Given the description of an element on the screen output the (x, y) to click on. 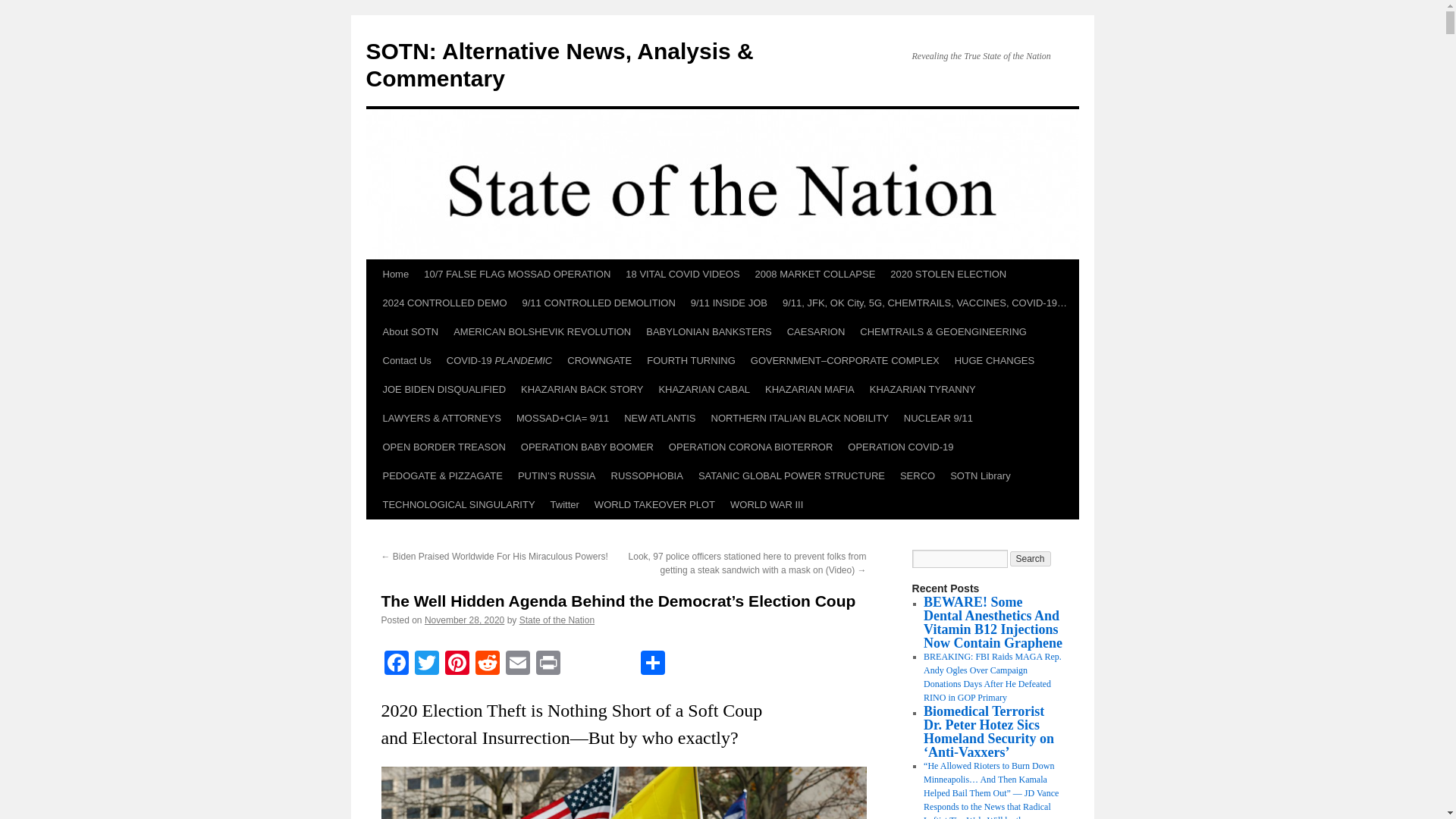
OPERATION CORONA BIOTERROR (750, 447)
KHAZARIAN TYRANNY (922, 389)
KHAZARIAN MAFIA (809, 389)
RUSSOPHOBIA (647, 475)
BABYLONIAN BANKSTERS (708, 331)
KHAZARIAN CABAL (703, 389)
CROWNGATE (599, 360)
10:24 am (464, 620)
2008 MARKET COLLAPSE (815, 274)
OPEN BORDER TREASON (443, 447)
